Given the description of an element on the screen output the (x, y) to click on. 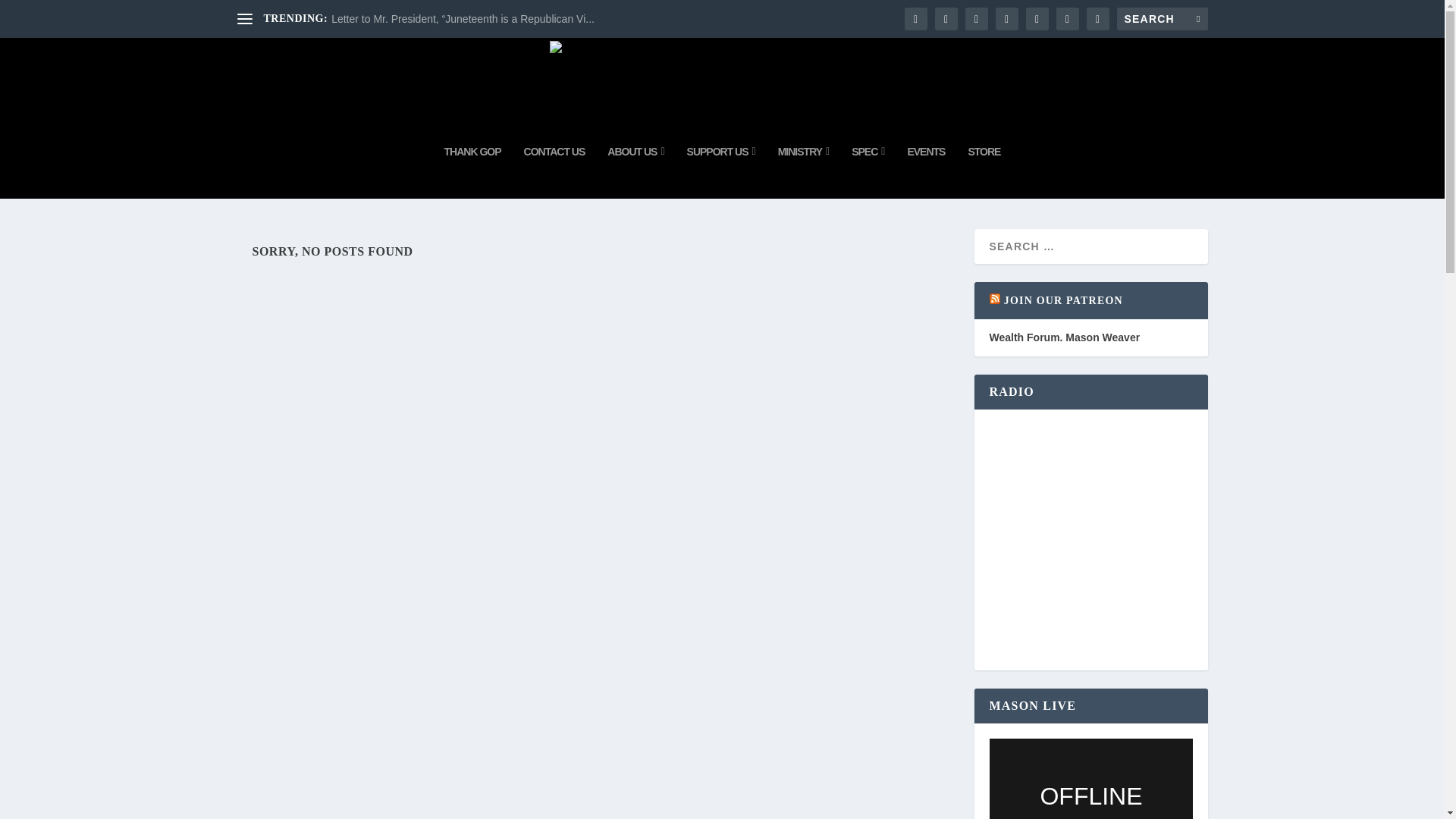
MINISTRY (803, 172)
CONTACT US (554, 172)
ABOUT US (635, 172)
SUPPORT US (721, 172)
THANK GOP (472, 172)
Search for: (1161, 18)
